Given the description of an element on the screen output the (x, y) to click on. 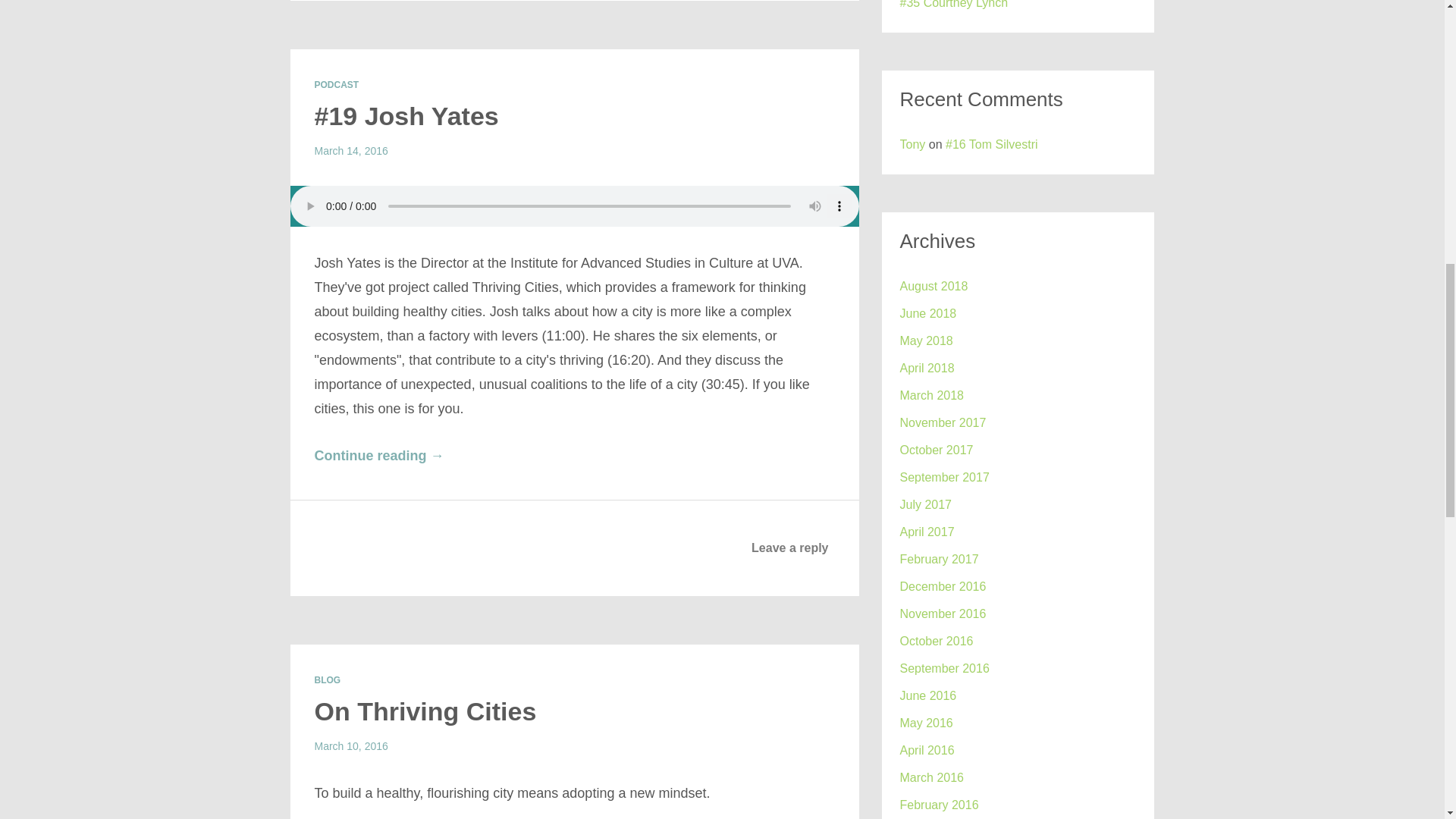
March 10, 2016 (350, 746)
Leave a reply (789, 547)
BLOG (327, 679)
Tony (911, 144)
March 14, 2016 (350, 150)
On Thriving Cities (424, 710)
Permalink to On Thriving Cities (424, 710)
August 2018 (933, 285)
PODCAST (336, 84)
